Given the description of an element on the screen output the (x, y) to click on. 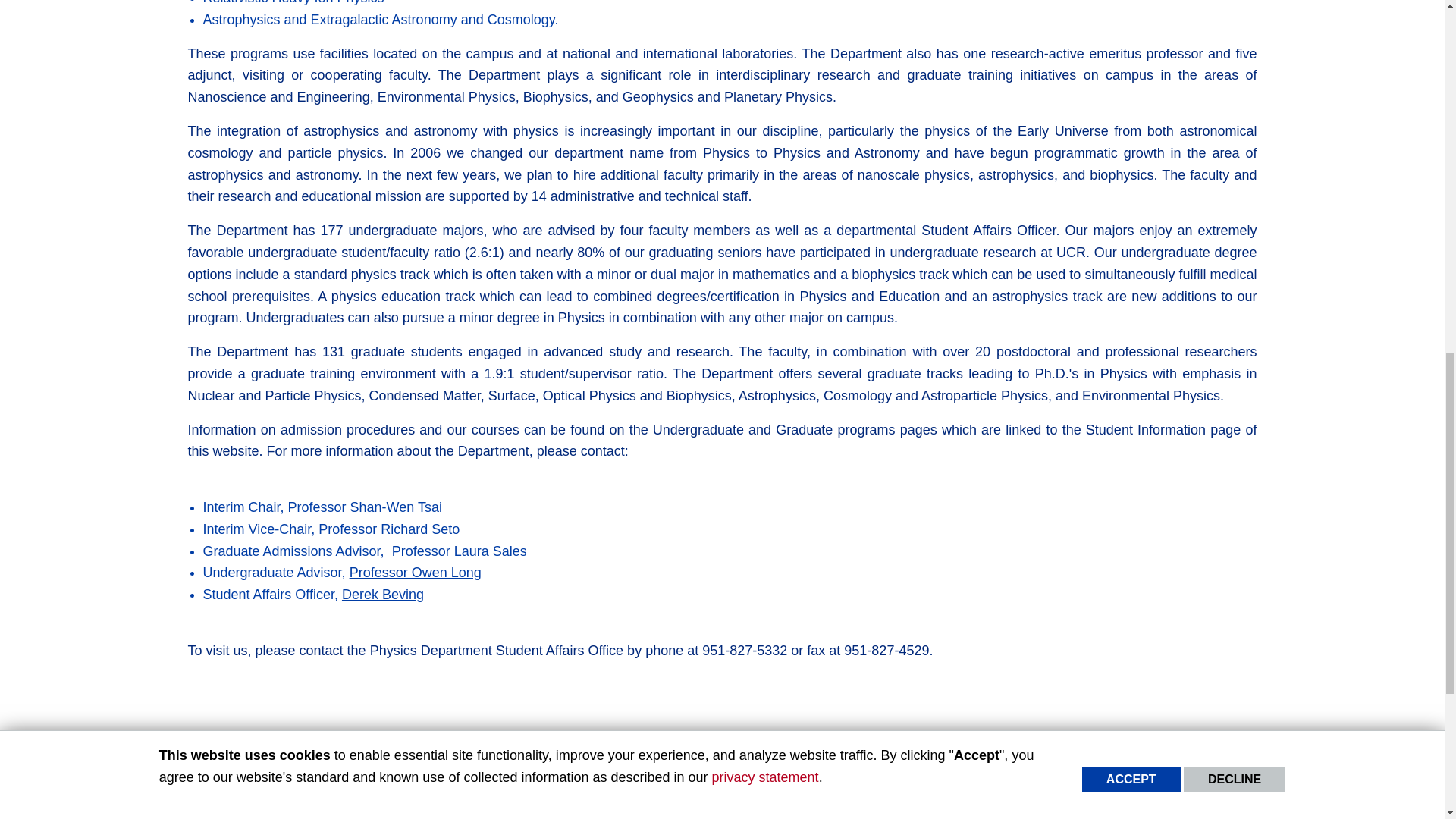
Professor Roya Zandi (459, 550)
